Given the description of an element on the screen output the (x, y) to click on. 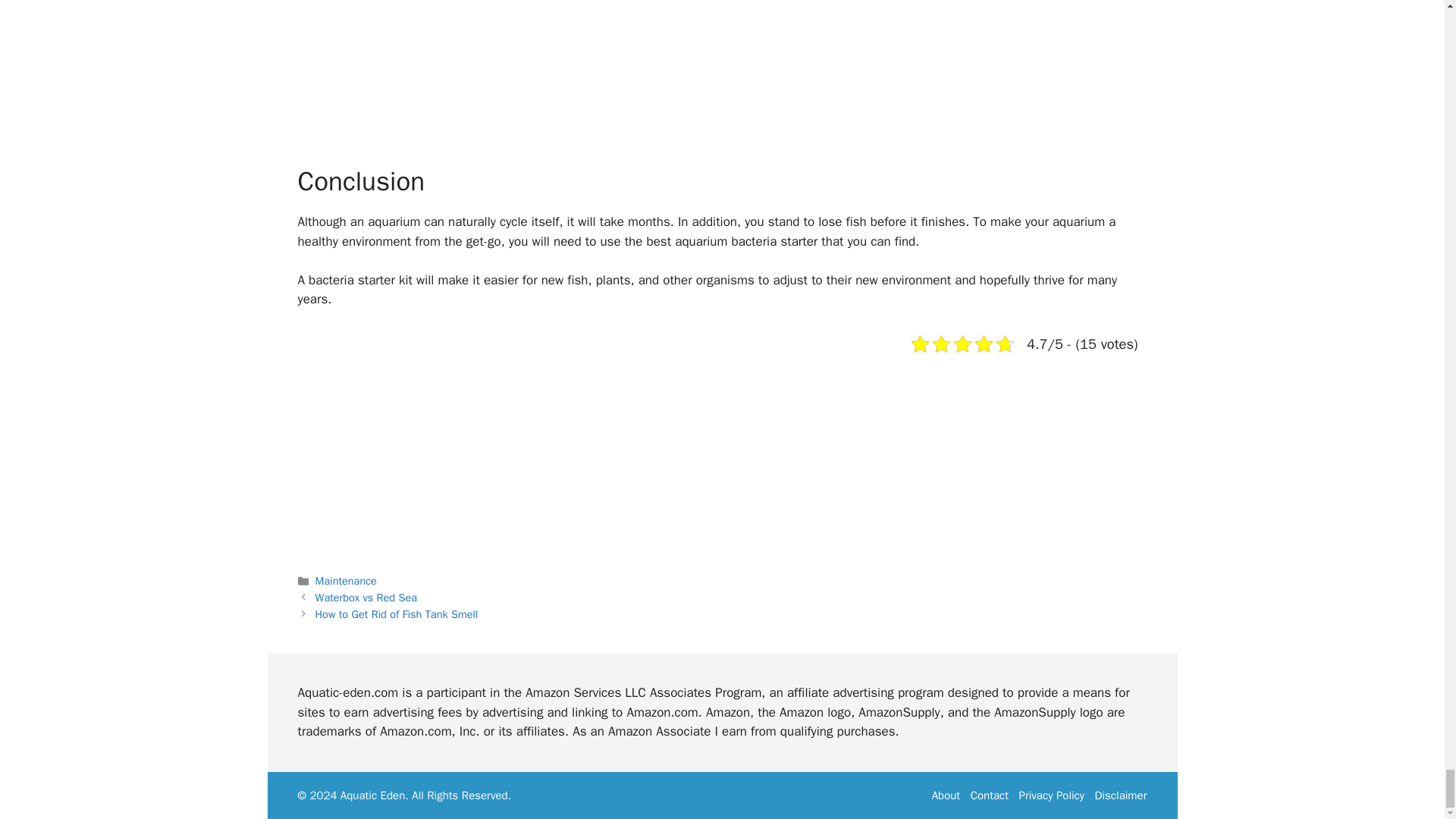
Maintenance (346, 581)
Privacy Policy (1051, 795)
How to Get Rid of Fish Tank Smell (397, 613)
About (945, 795)
Contact (990, 795)
Disclaimer (1120, 795)
Waterbox vs Red Sea (365, 597)
